Given the description of an element on the screen output the (x, y) to click on. 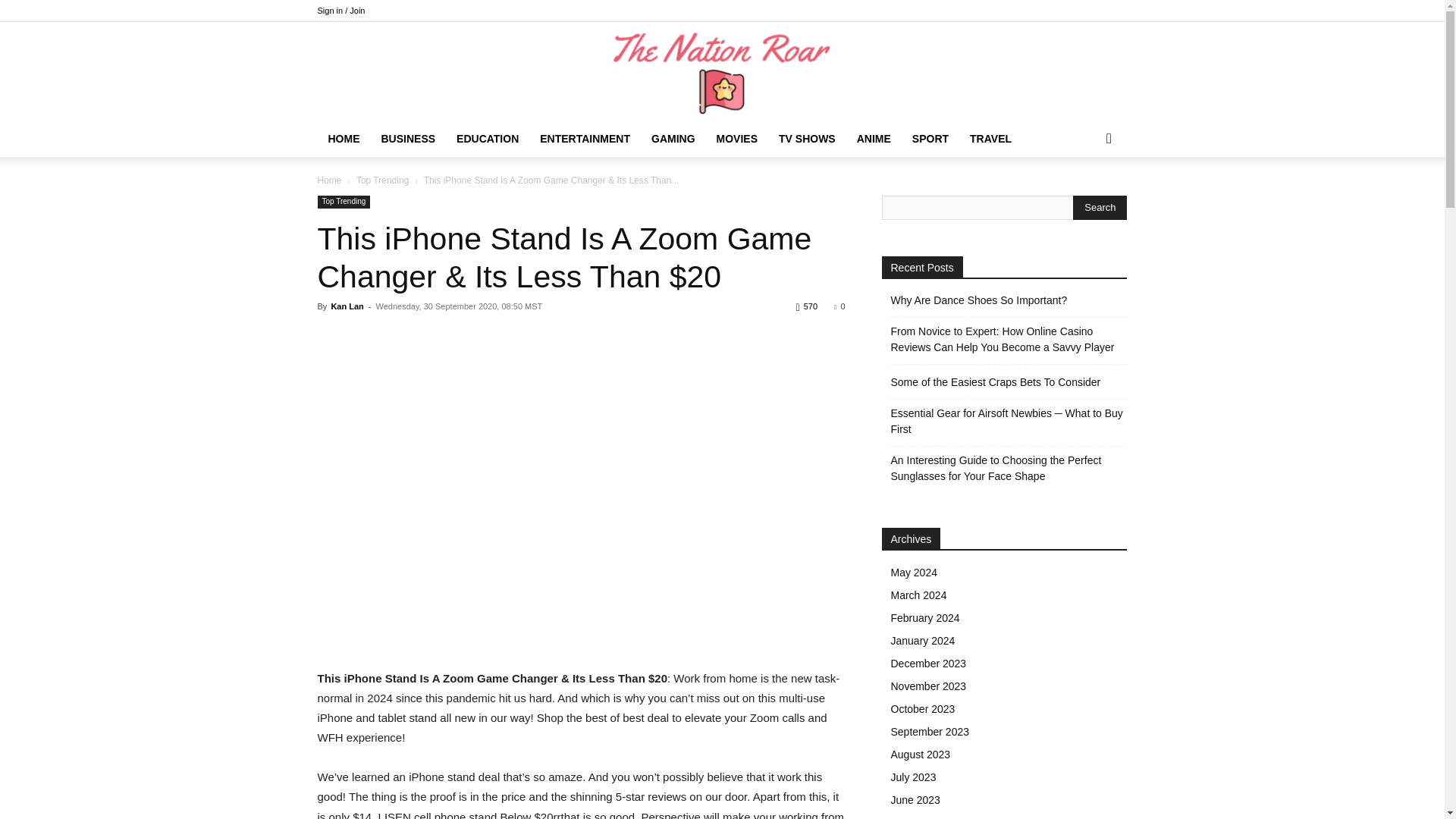
EDUCATION (487, 138)
HOME (343, 138)
Kan Lan (346, 306)
Top Trending (382, 180)
SPORT (930, 138)
GAMING (673, 138)
ANIME (873, 138)
The Nation Roar (721, 72)
TRAVEL (990, 138)
0 (839, 306)
